Given the description of an element on the screen output the (x, y) to click on. 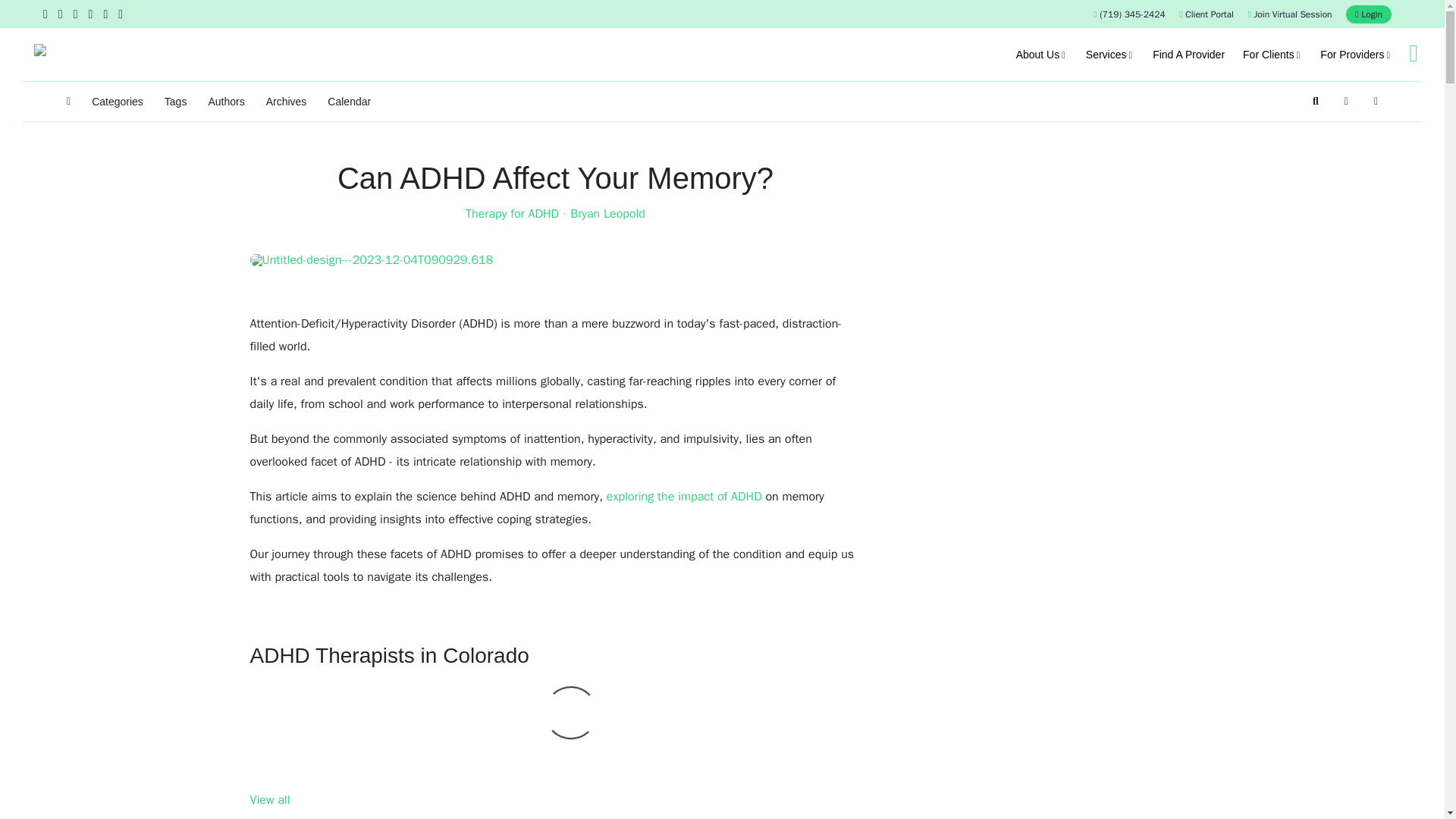
Archives (286, 101)
About Us (1042, 54)
Authors (225, 101)
Join Virtual Session (1289, 14)
Categories (116, 101)
Untitled-design---2023-12-04T090929.618 (555, 259)
Client Portal (1206, 14)
Menu (1412, 52)
For Clients (1272, 54)
Login (1368, 13)
